Given the description of an element on the screen output the (x, y) to click on. 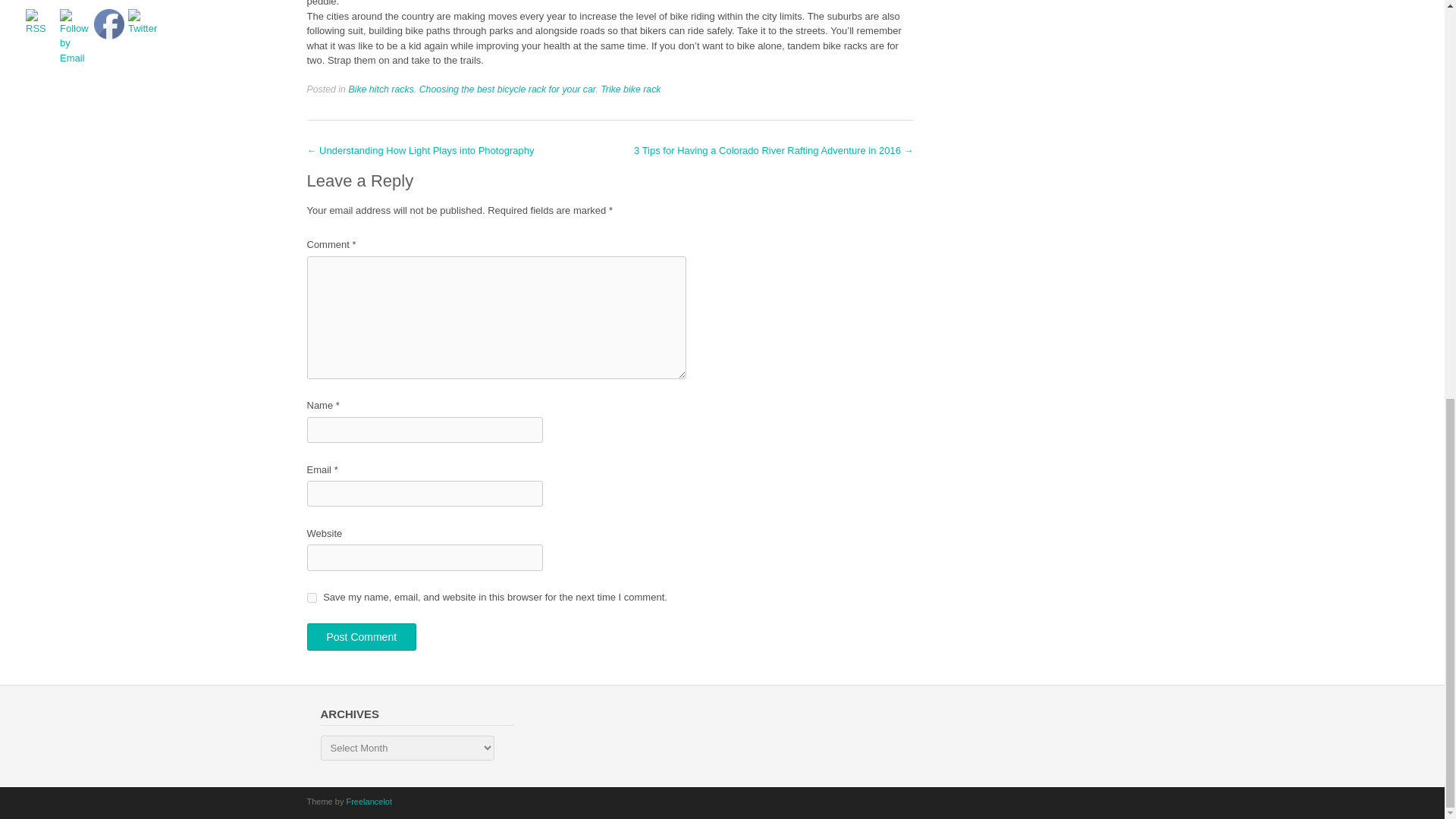
Freelancelot (368, 800)
Post Comment (360, 636)
Post Comment (360, 636)
Bike hitch racks (380, 89)
Choosing the best bicycle rack for your car (507, 89)
Trike bike rack (630, 89)
RSS (41, 22)
yes (310, 597)
